Given the description of an element on the screen output the (x, y) to click on. 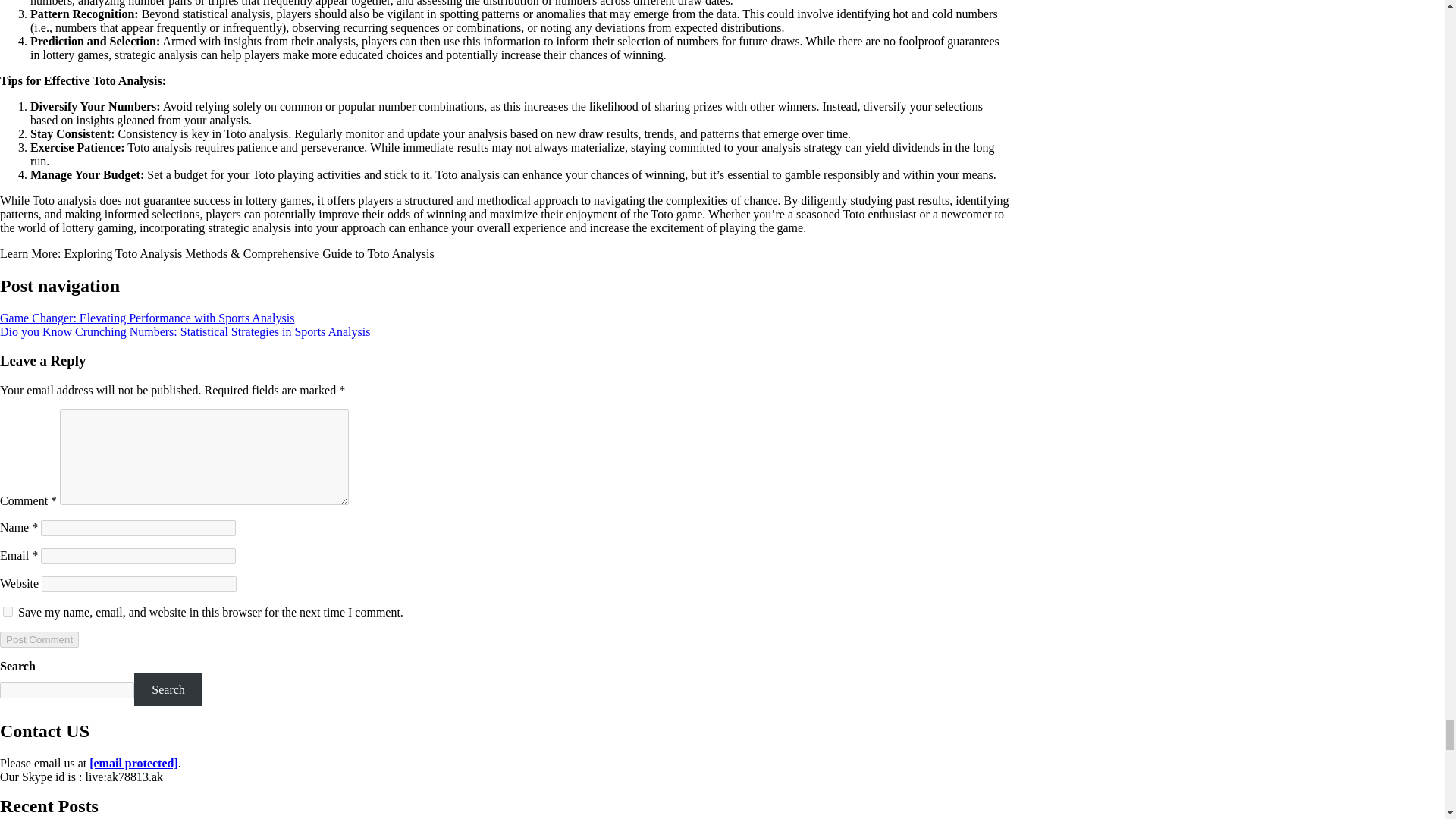
Post Comment (39, 639)
yes (7, 611)
